Given the description of an element on the screen output the (x, y) to click on. 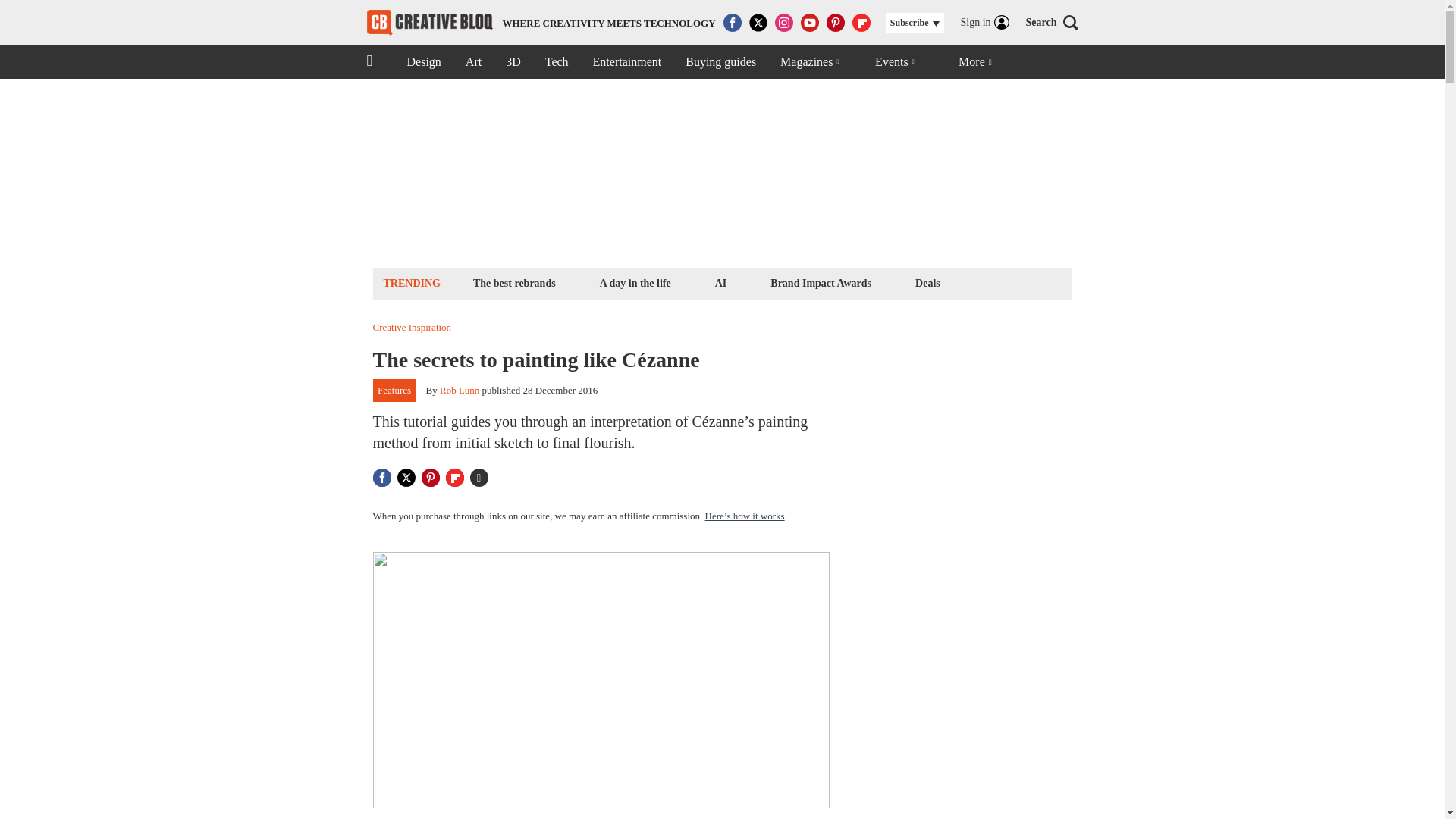
Brand Impact Awards (820, 282)
3D (512, 61)
Tech (556, 61)
Design (541, 22)
Creative Bloq (423, 61)
Rob Lunn (429, 22)
AI (459, 389)
The best rebrands (721, 282)
Art (513, 282)
